Given the description of an element on the screen output the (x, y) to click on. 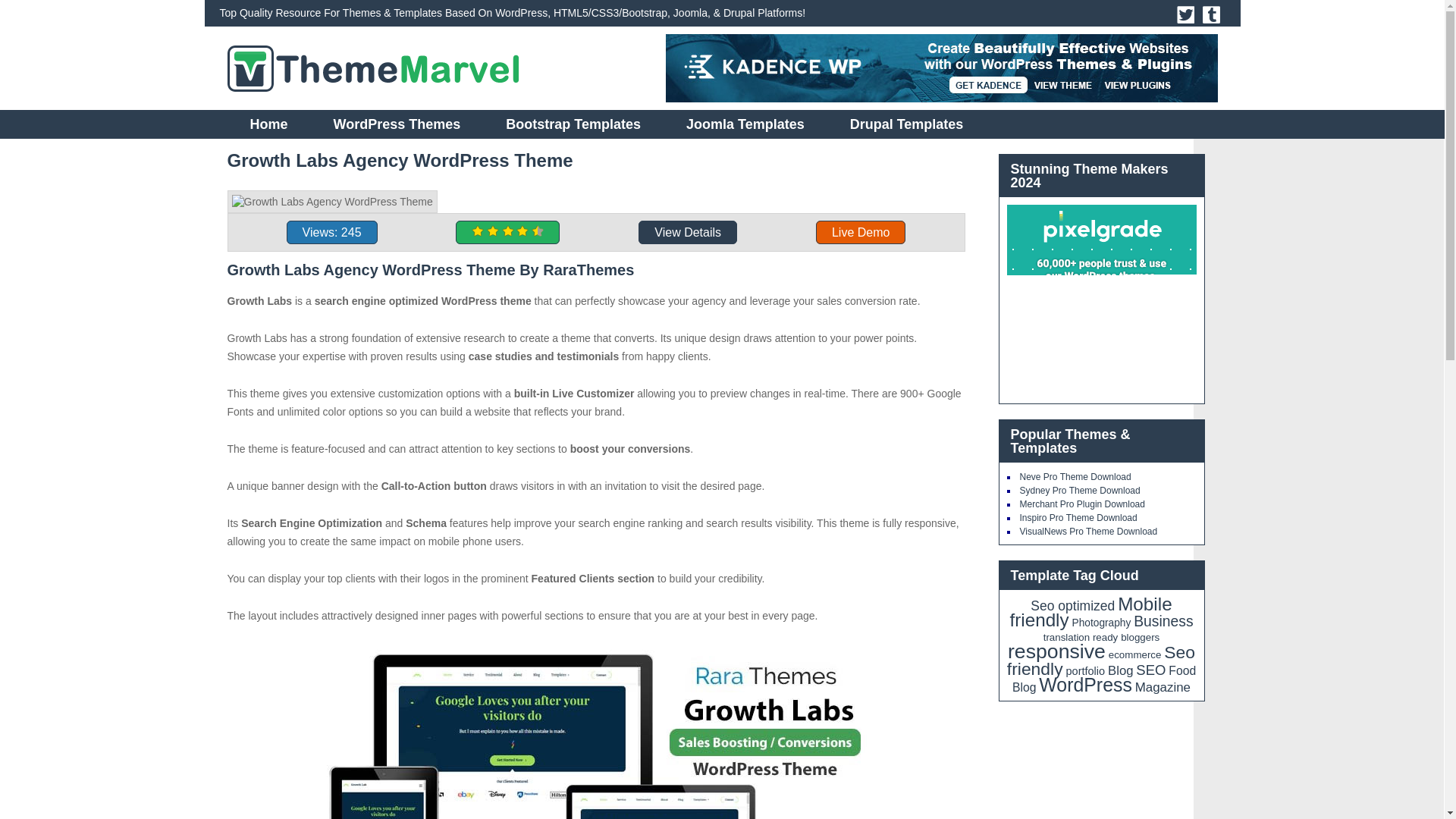
bloggers (1139, 636)
Sydney Pro Theme Download (1079, 490)
Live Demo (860, 232)
Home (269, 123)
Inspiro Pro Theme Download (1078, 517)
Photography (1101, 622)
Business (1163, 621)
translation ready (1080, 636)
Merchant Pro Plugin Download (1081, 503)
Neve Pro Theme Download (1075, 476)
